Given the description of an element on the screen output the (x, y) to click on. 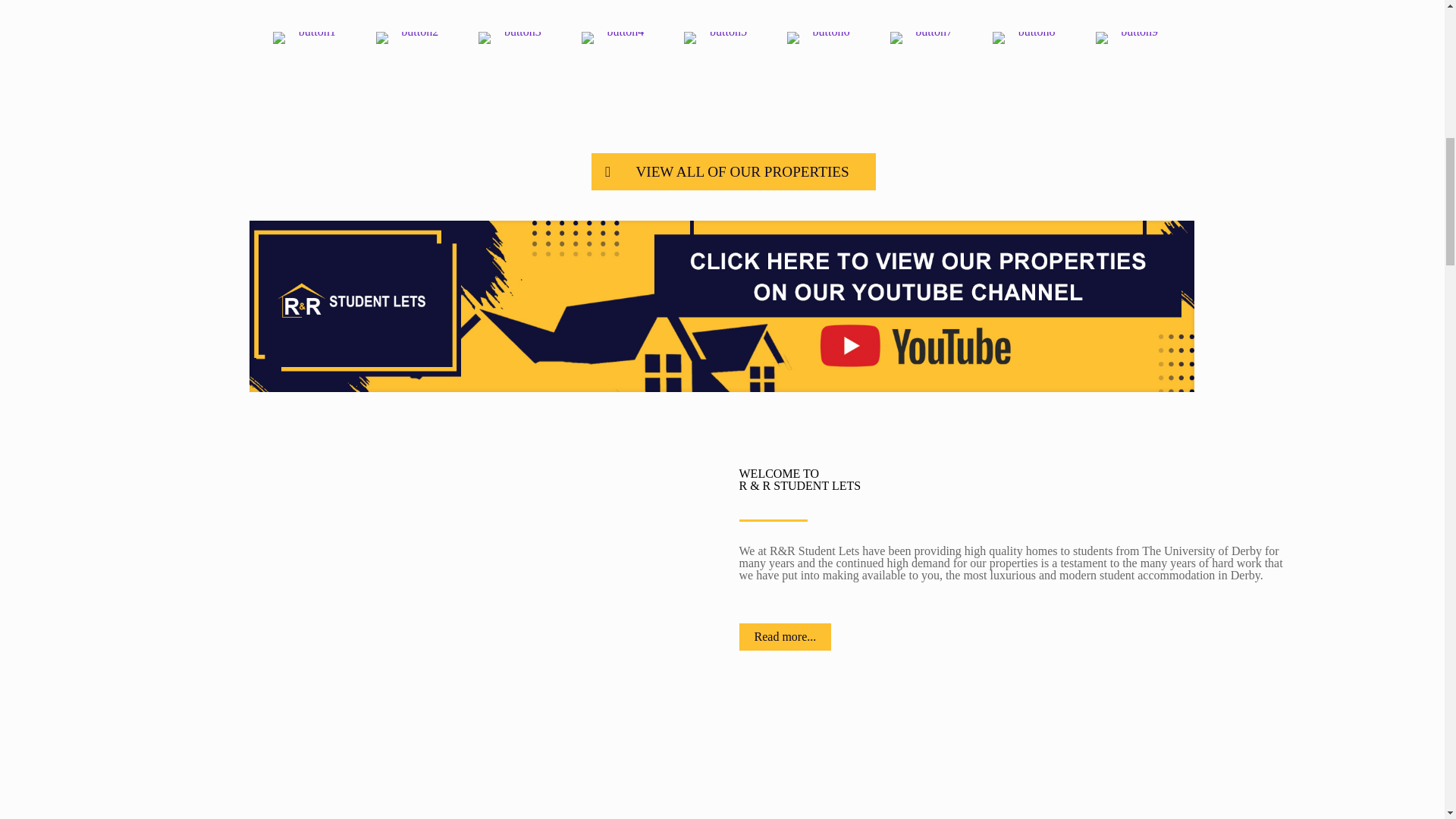
VIEW ALL OF OUR PROPERTIES (733, 171)
Read more... (784, 636)
